Given the description of an element on the screen output the (x, y) to click on. 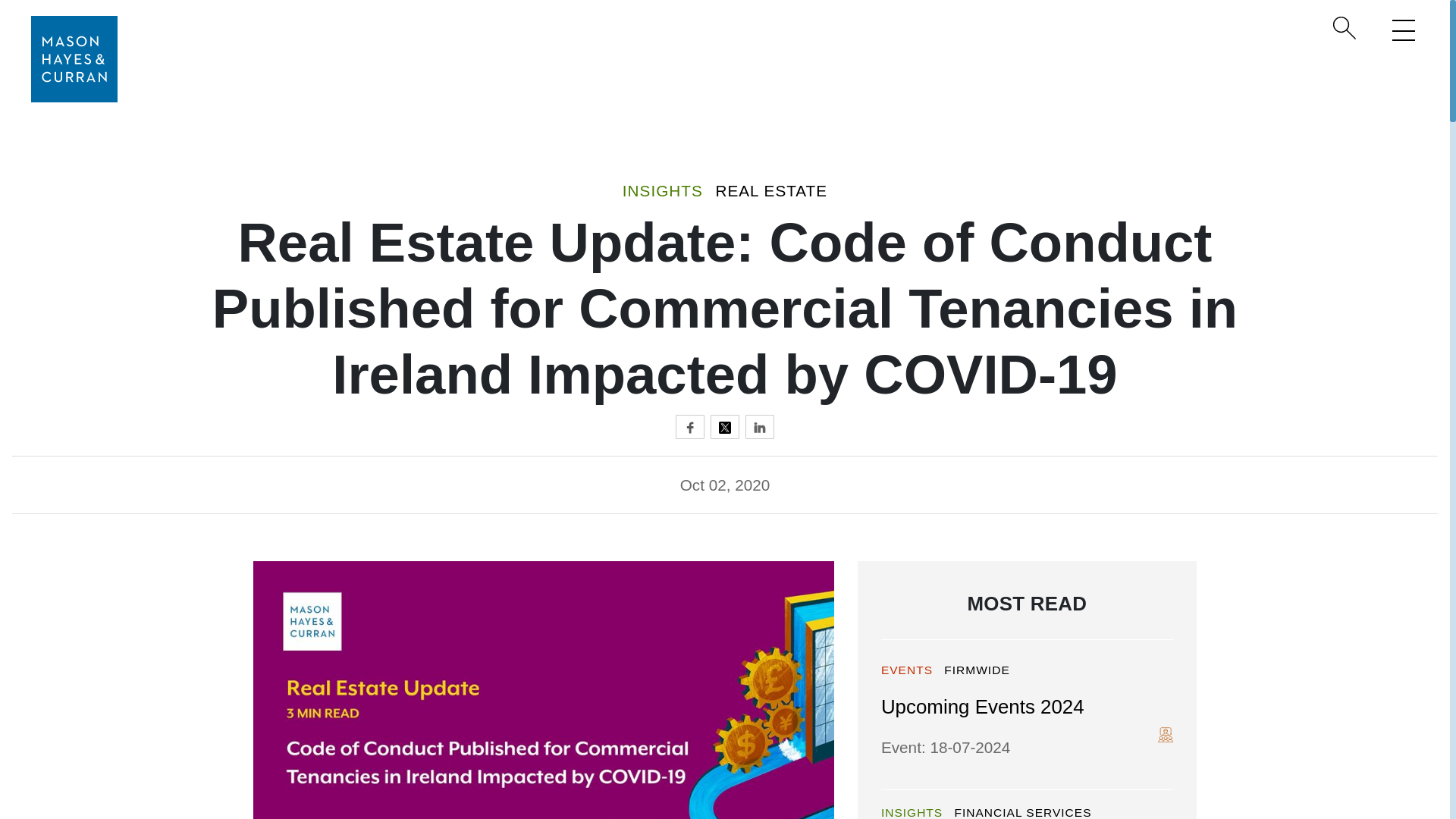
INSIGHTS (663, 190)
Upcoming Events 2024 (982, 706)
